Given the description of an element on the screen output the (x, y) to click on. 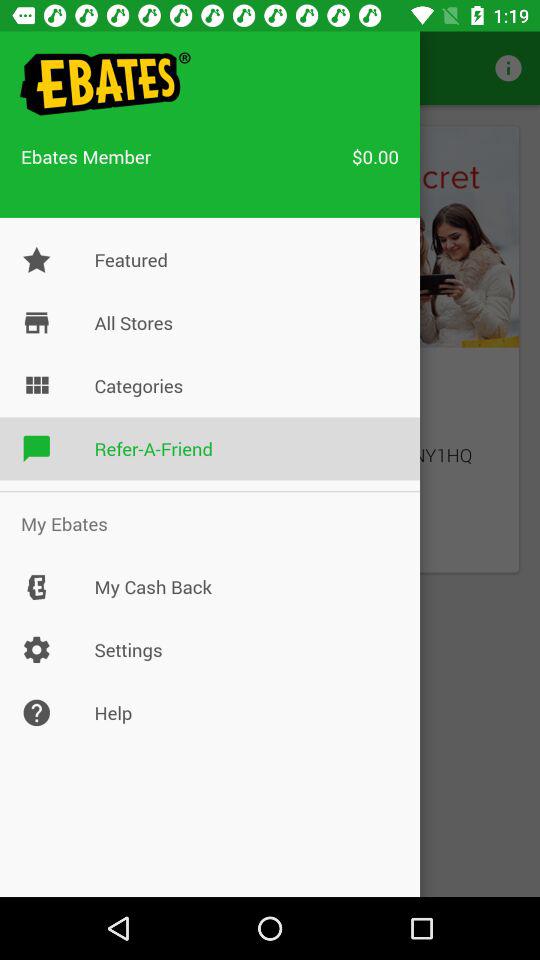
click on the logo above ebates member (101, 84)
